Given the description of an element on the screen output the (x, y) to click on. 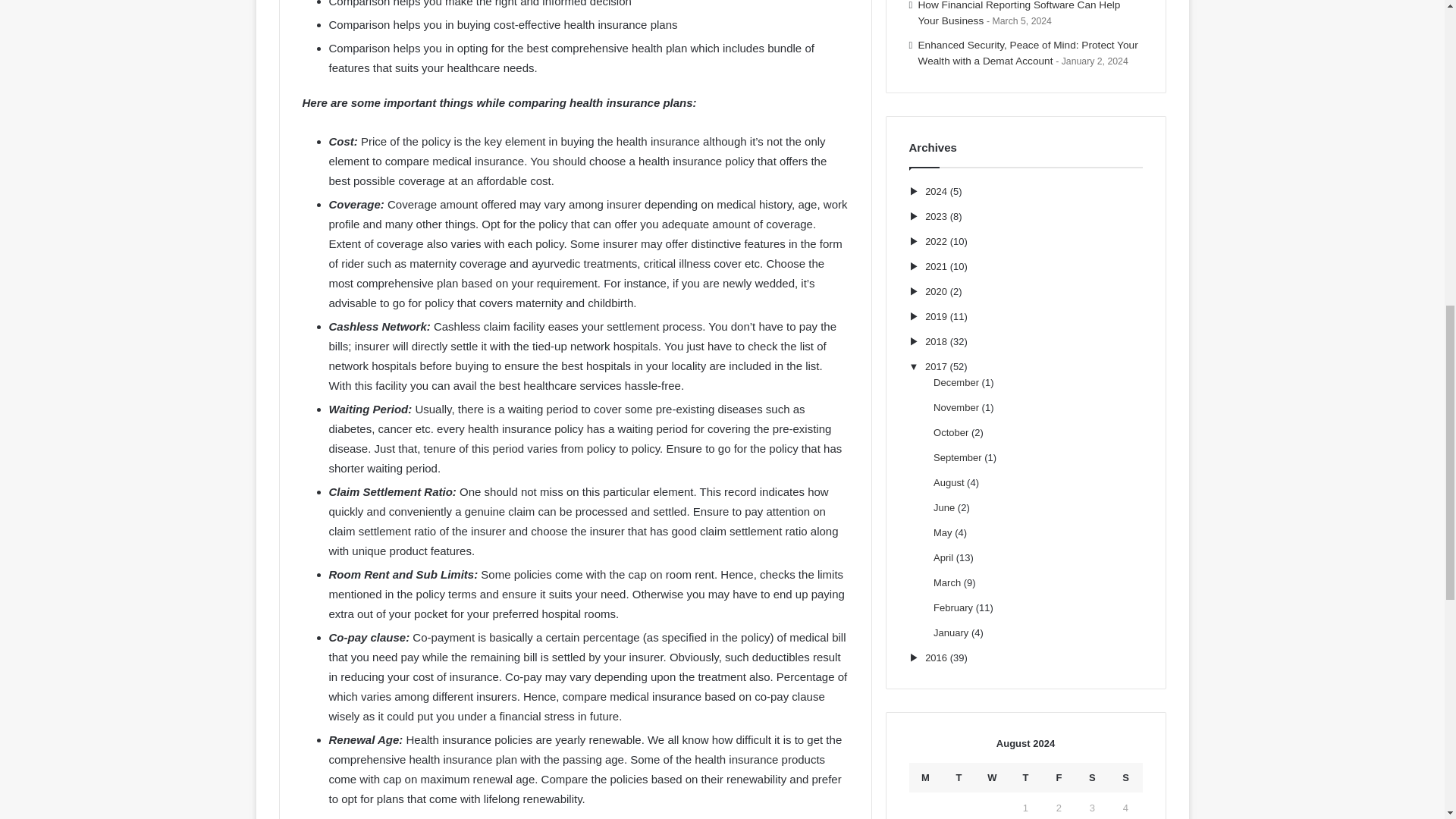
Sunday (1124, 777)
Wednesday (992, 777)
Tuesday (958, 777)
Thursday (1025, 777)
Friday (1058, 777)
2024 (935, 191)
How Financial Reporting Software Can Help Your Business (1019, 13)
Saturday (1091, 777)
Monday (925, 777)
